Given the description of an element on the screen output the (x, y) to click on. 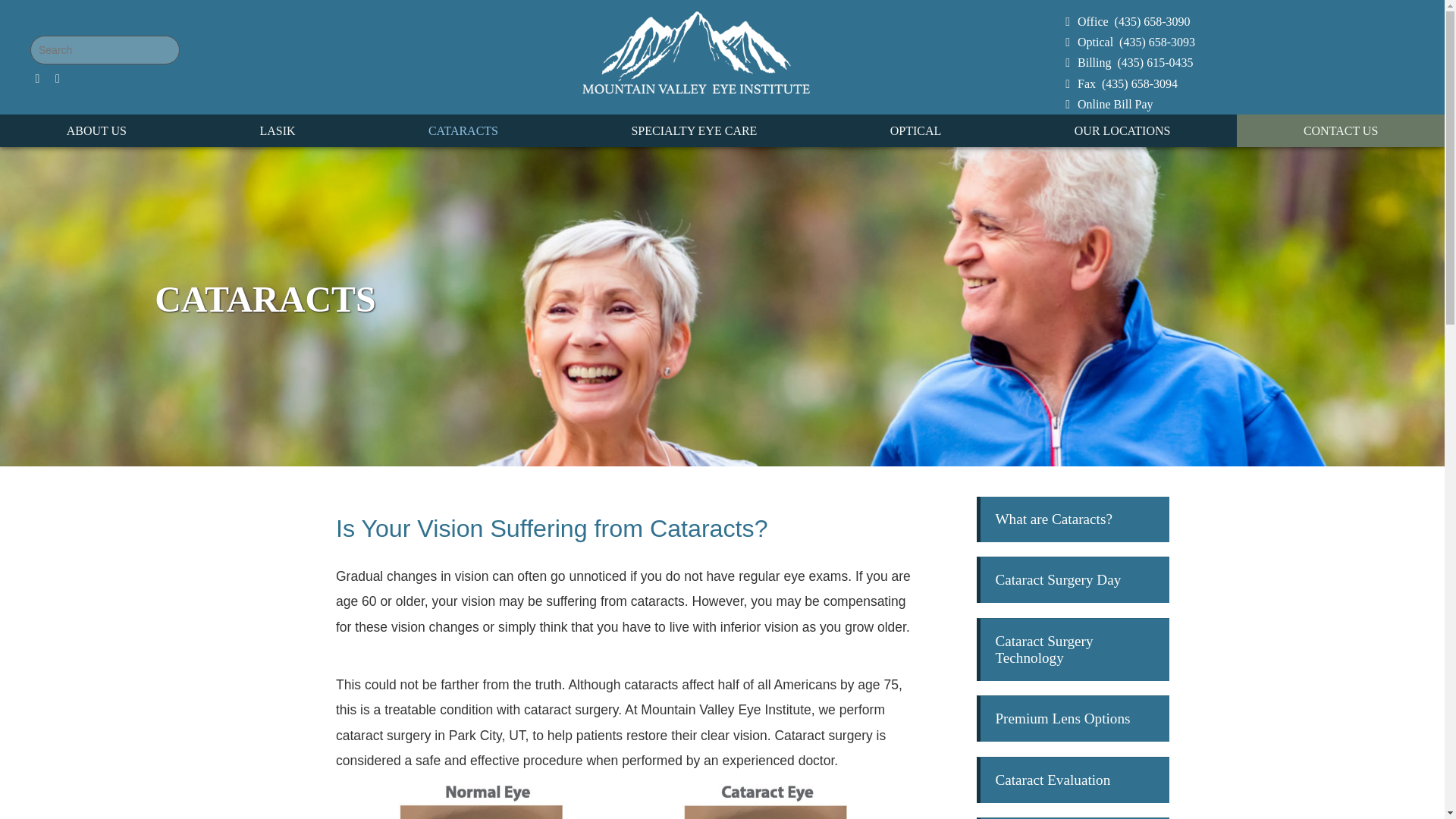
LASIK (277, 130)
Online Bill Pay (1107, 103)
CATARACTS (463, 130)
ABOUT US (96, 130)
